Given the description of an element on the screen output the (x, y) to click on. 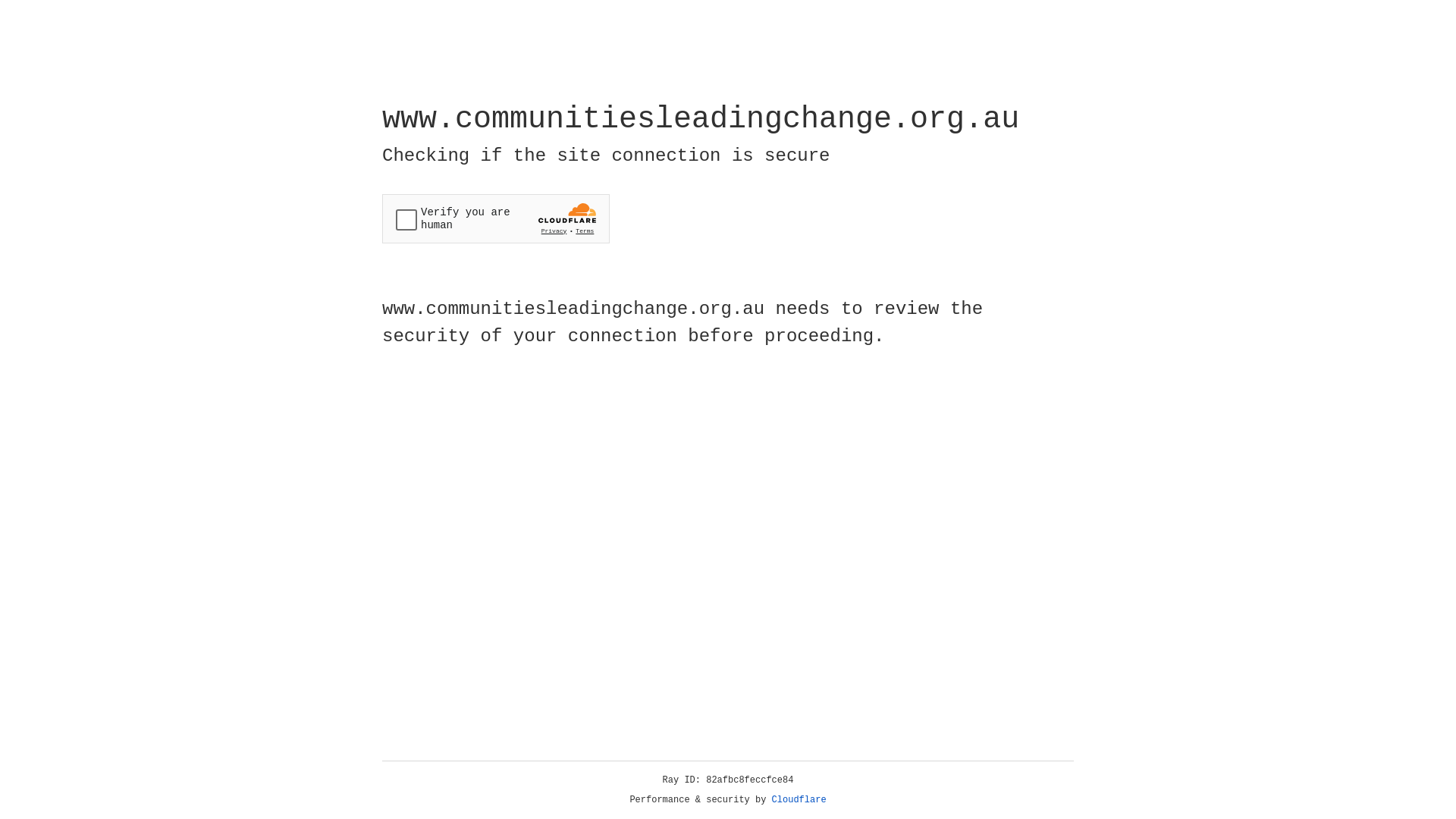
Cloudflare Element type: text (798, 799)
Widget containing a Cloudflare security challenge Element type: hover (495, 218)
